Given the description of an element on the screen output the (x, y) to click on. 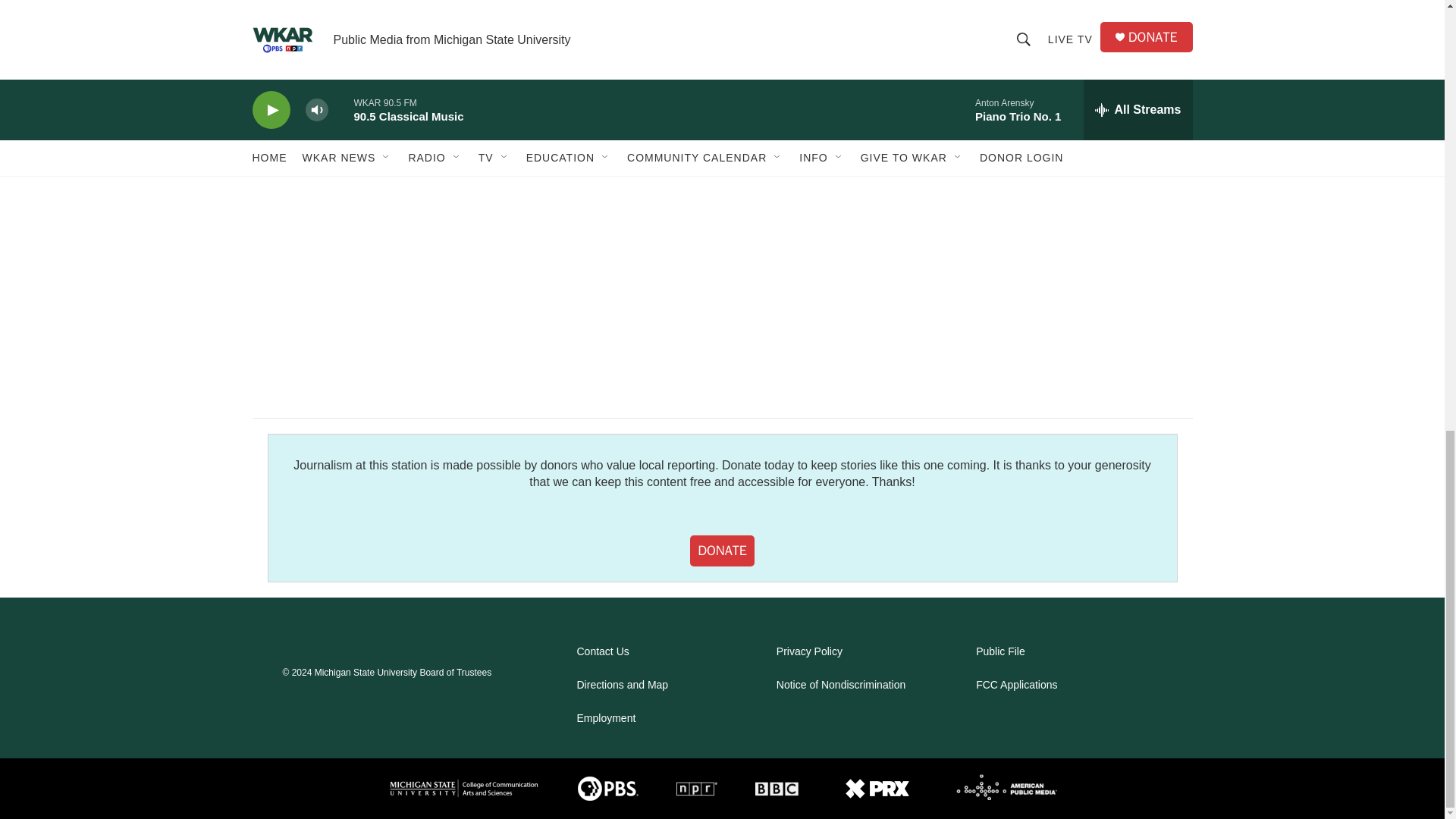
3rd party ad content (1062, 54)
3rd party ad content (1062, 262)
